Given the description of an element on the screen output the (x, y) to click on. 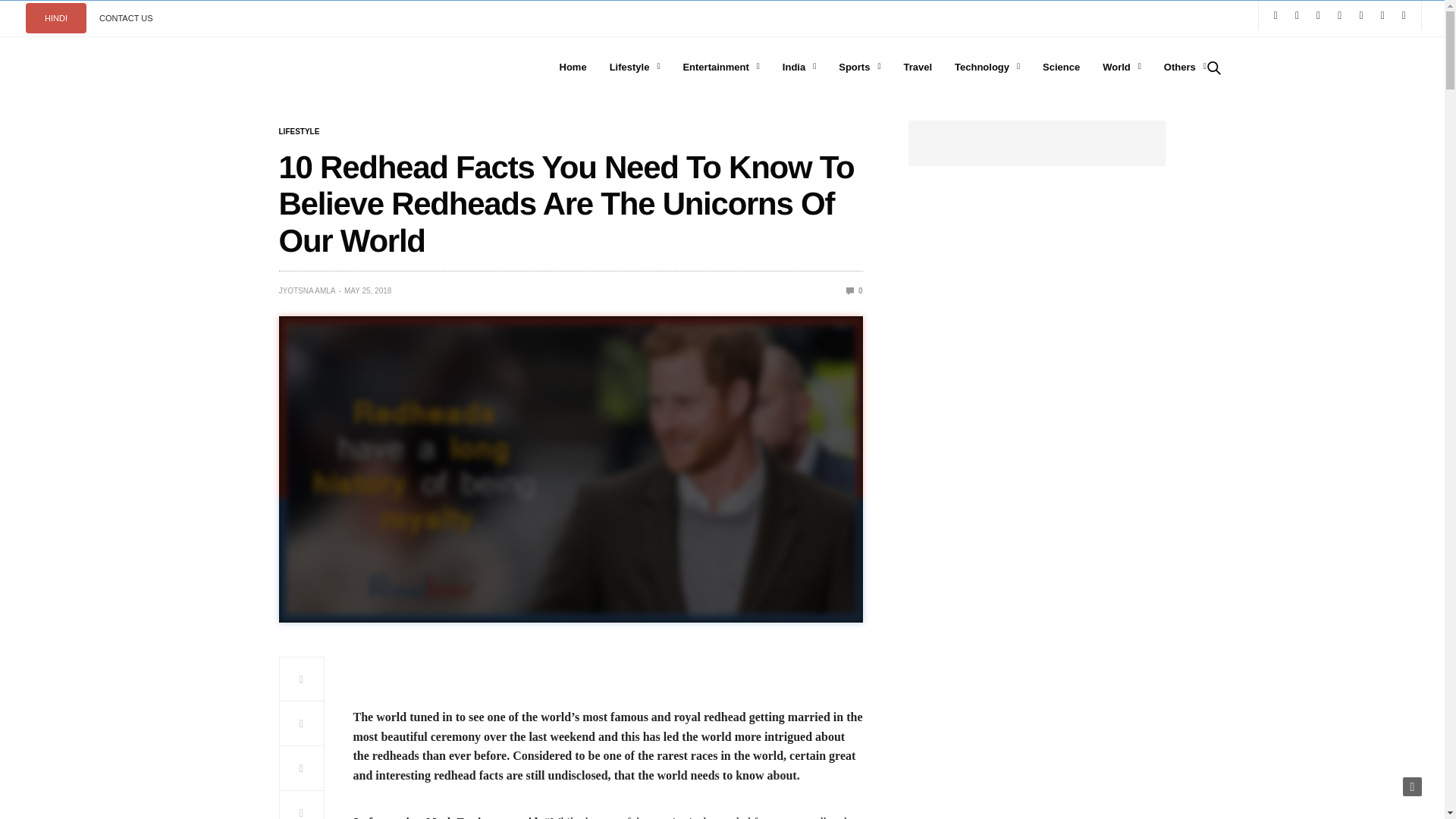
Lifestyle (635, 67)
Posts by Jyotsna Amla (307, 291)
CONTACT US (125, 18)
India (799, 67)
Sports (859, 67)
Home (572, 67)
HINDI (55, 18)
Lifestyle (299, 131)
Entertainment (720, 67)
